Given the description of an element on the screen output the (x, y) to click on. 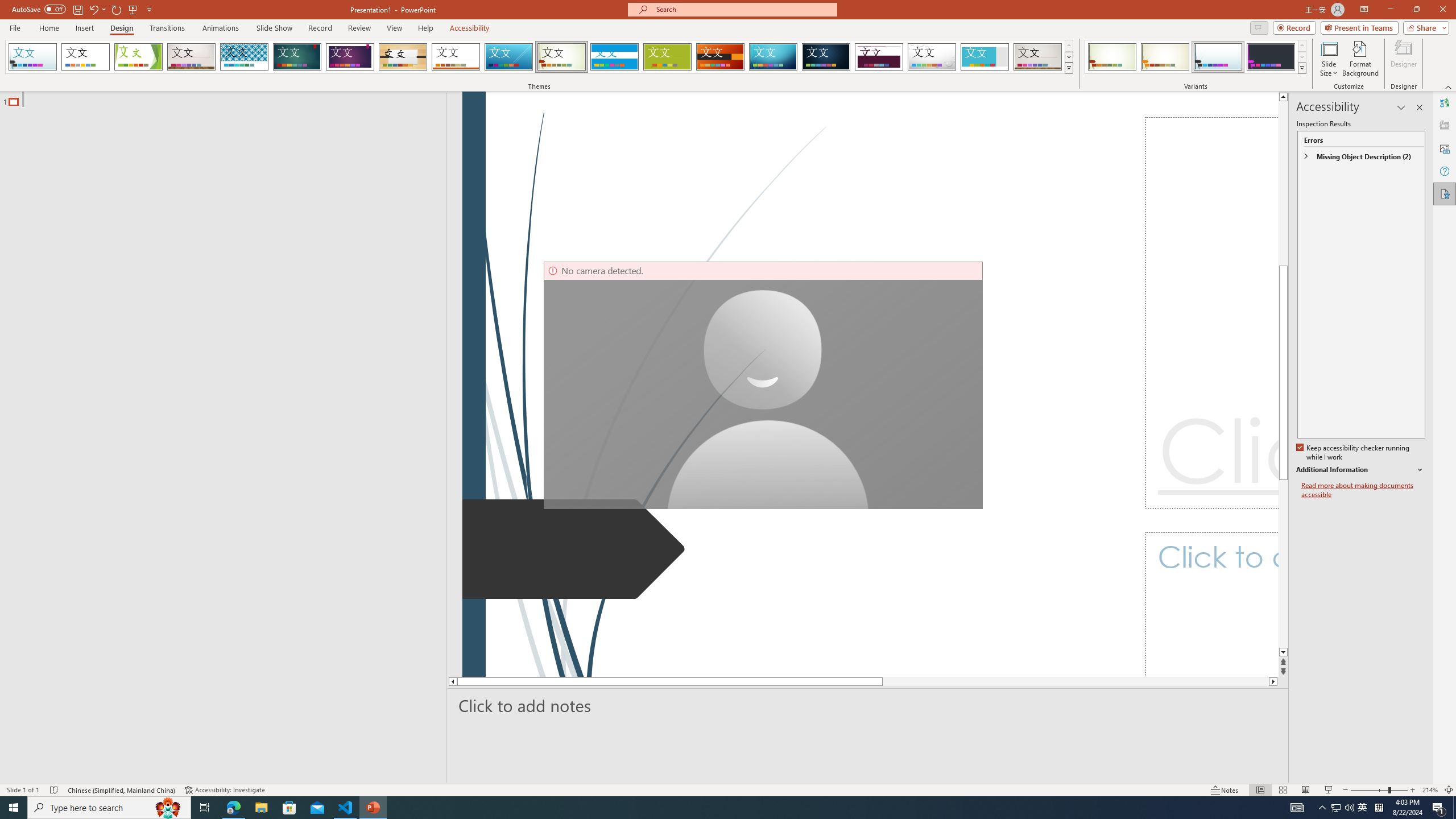
Translator (1444, 102)
Frame (984, 56)
Slide Notes (868, 705)
Wisp (561, 56)
Basis (667, 56)
Retrospect (455, 56)
Camera 7, No camera detected. (762, 385)
Additional Information (1360, 469)
